Given the description of an element on the screen output the (x, y) to click on. 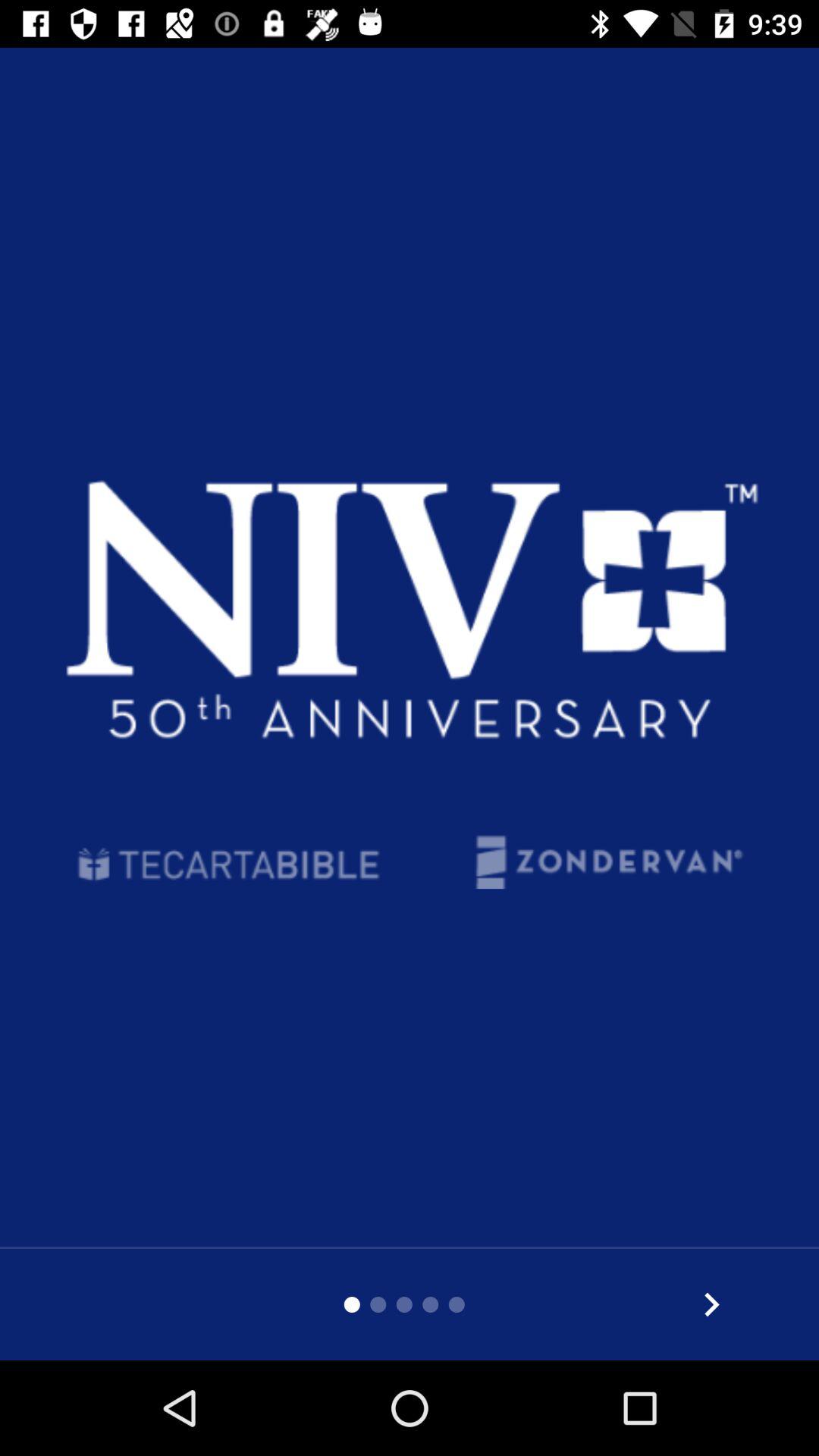
go forward (711, 1304)
